Given the description of an element on the screen output the (x, y) to click on. 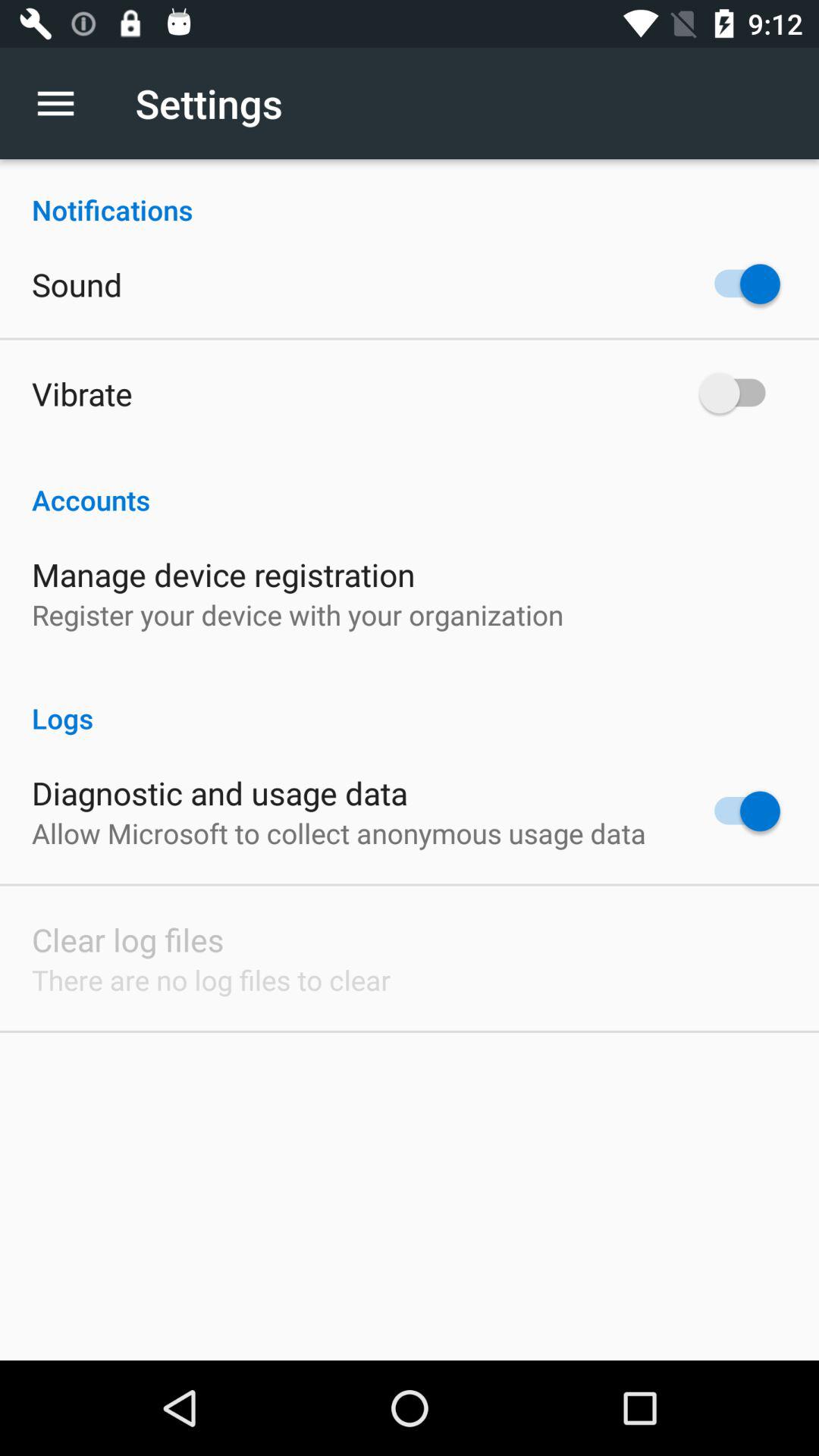
turn on the register your device (297, 614)
